Given the description of an element on the screen output the (x, y) to click on. 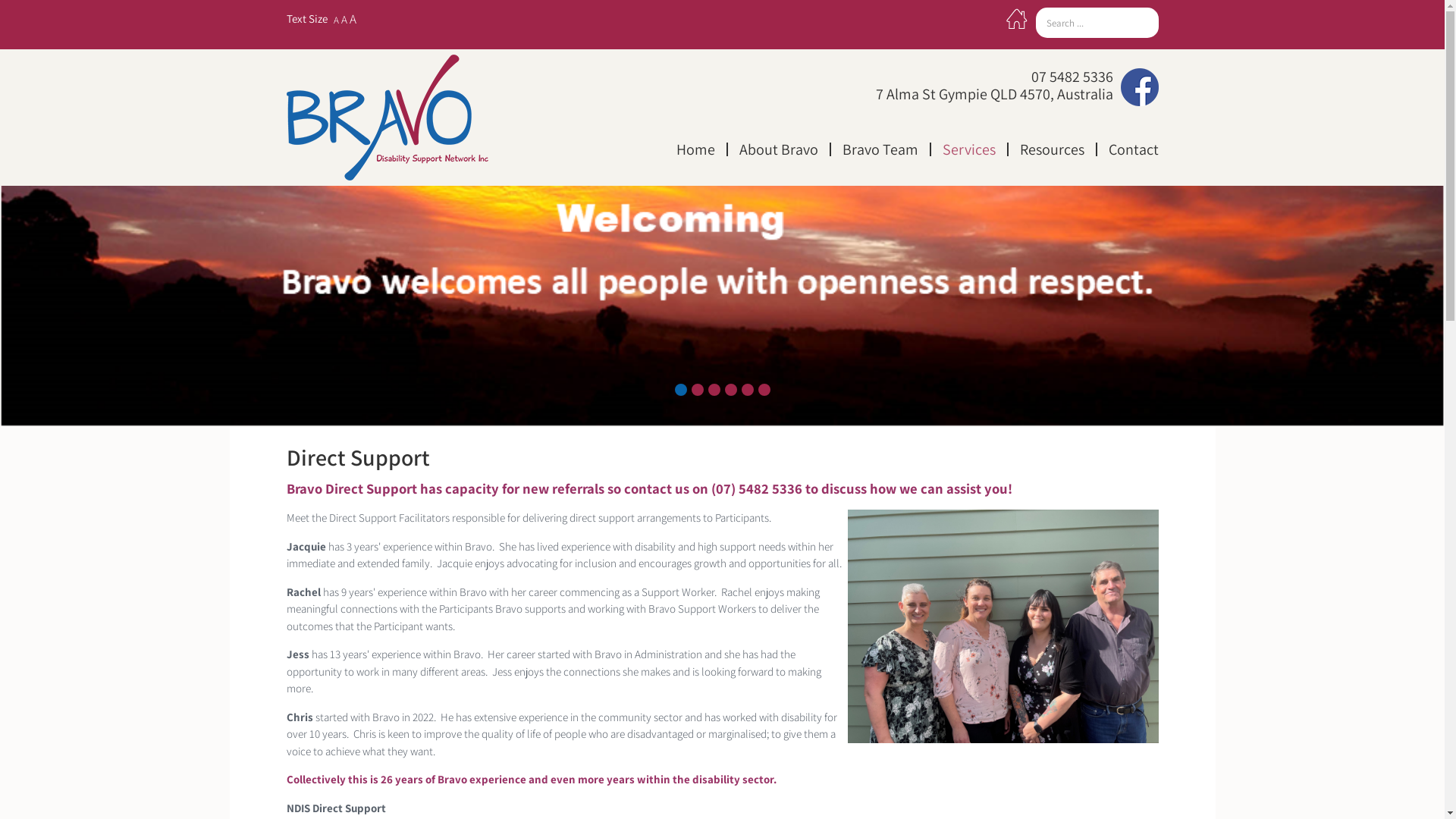
Home Element type: text (695, 149)
Bravo Team Element type: text (881, 149)
A Element type: text (344, 19)
Contact Element type: text (1126, 149)
About Bravo Element type: text (779, 149)
A Element type: text (351, 18)
A Element type: text (335, 19)
Resources Element type: text (1052, 149)
Services Element type: text (969, 149)
